Given the description of an element on the screen output the (x, y) to click on. 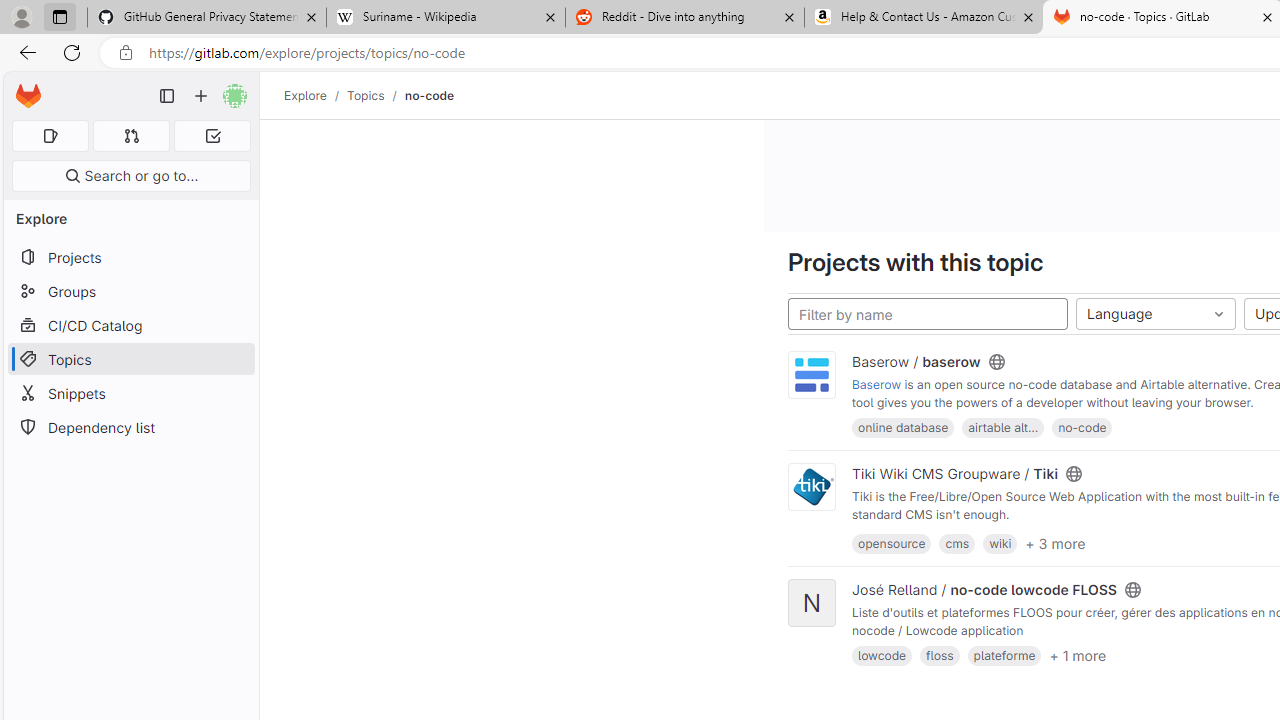
Baserow (877, 385)
N (811, 602)
cms (957, 542)
Topics (365, 95)
Class: project (811, 486)
Filter by name (927, 314)
Topics/ (375, 95)
Assigned issues 0 (50, 136)
Class: s16 dropdown-menu-toggle-icon (1218, 314)
no-code (429, 95)
